Given the description of an element on the screen output the (x, y) to click on. 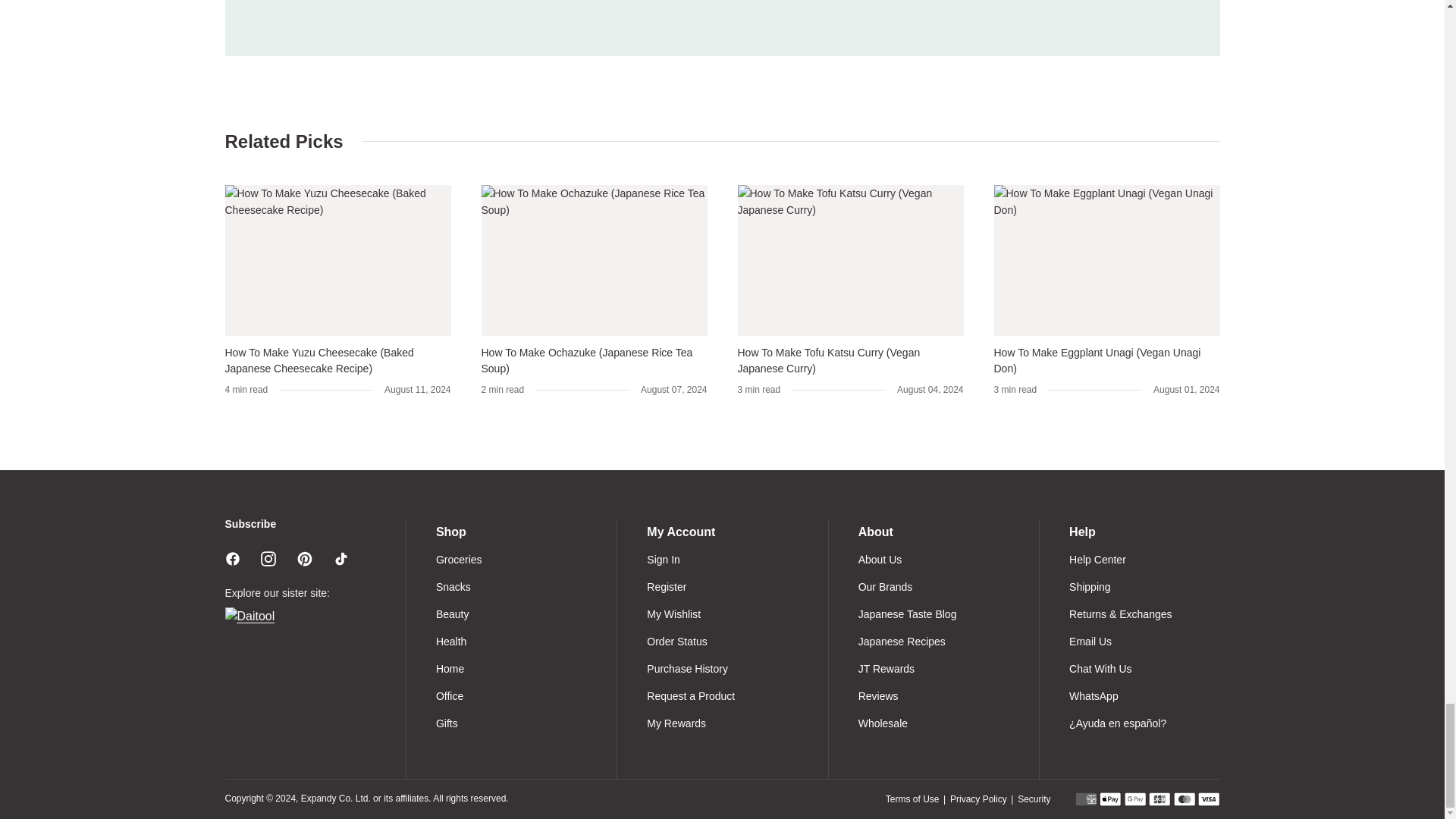
Japanese Taste on TikTok (341, 558)
Japanese Taste on Instagram (268, 558)
Japanese Taste on Facebook (232, 558)
Japanese Taste on Pinterest (305, 558)
